Given the description of an element on the screen output the (x, y) to click on. 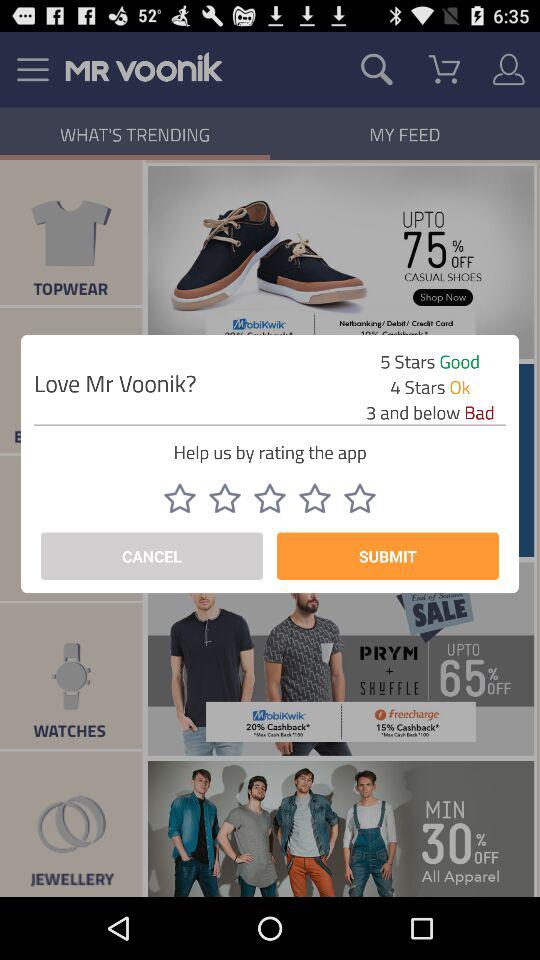
rate the app (315, 498)
